Given the description of an element on the screen output the (x, y) to click on. 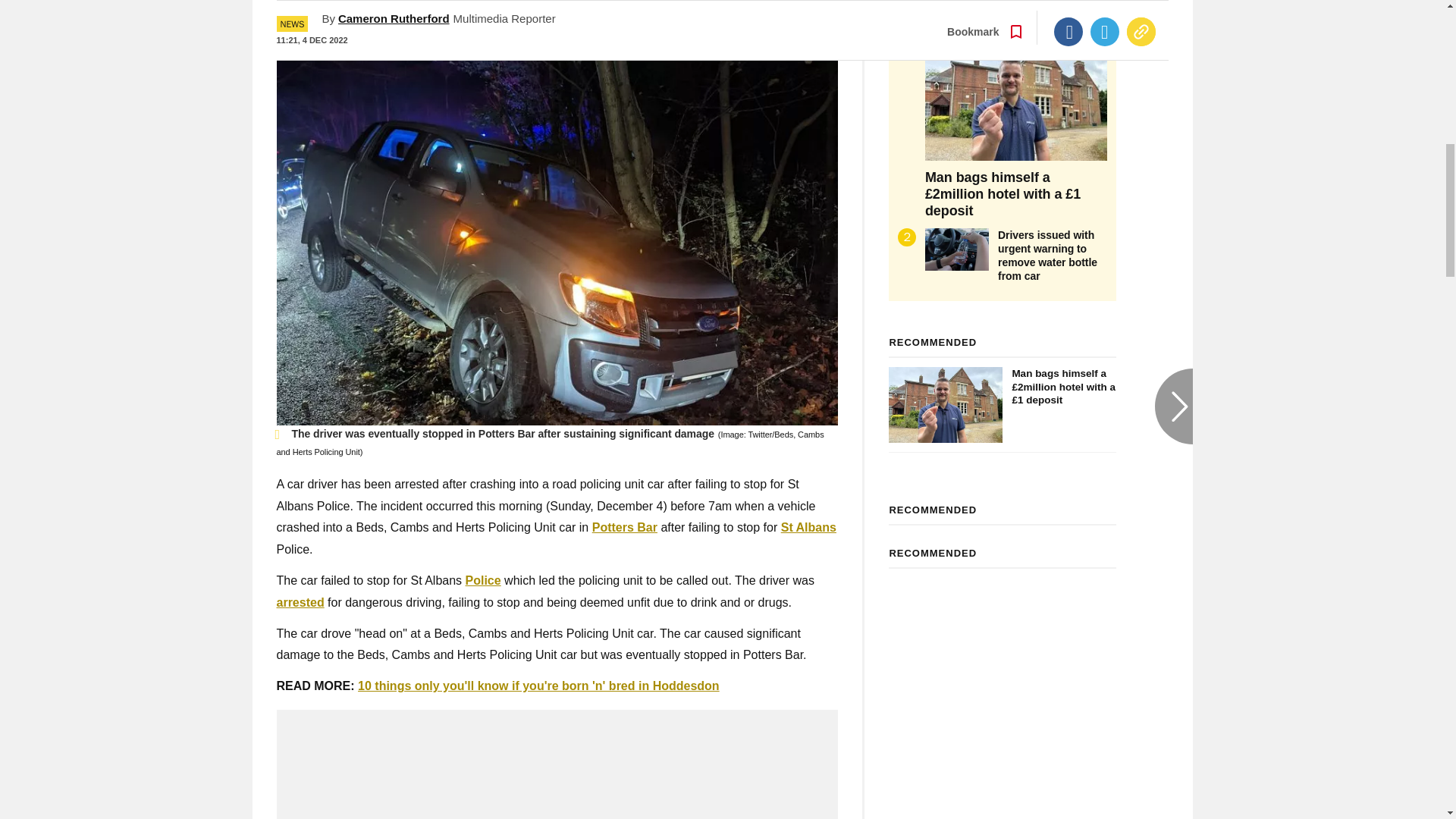
Go (730, 17)
